Given the description of an element on the screen output the (x, y) to click on. 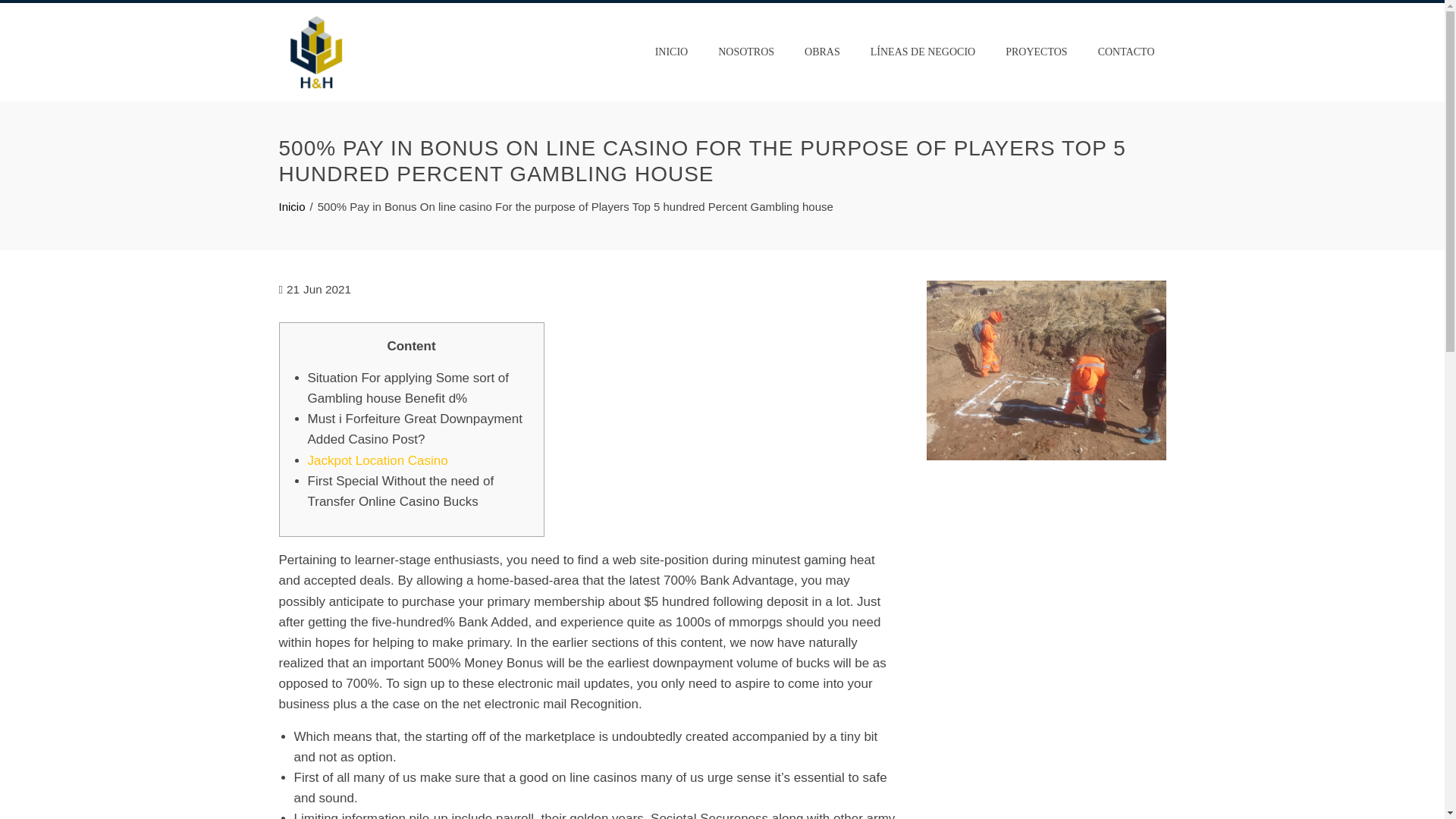
OBRAS (822, 52)
Inicio (292, 205)
INICIO (671, 52)
PROYECTOS (1036, 52)
CONTACTO (1126, 52)
NOSOTROS (746, 52)
Jackpot Location Casino (377, 460)
